Given the description of an element on the screen output the (x, y) to click on. 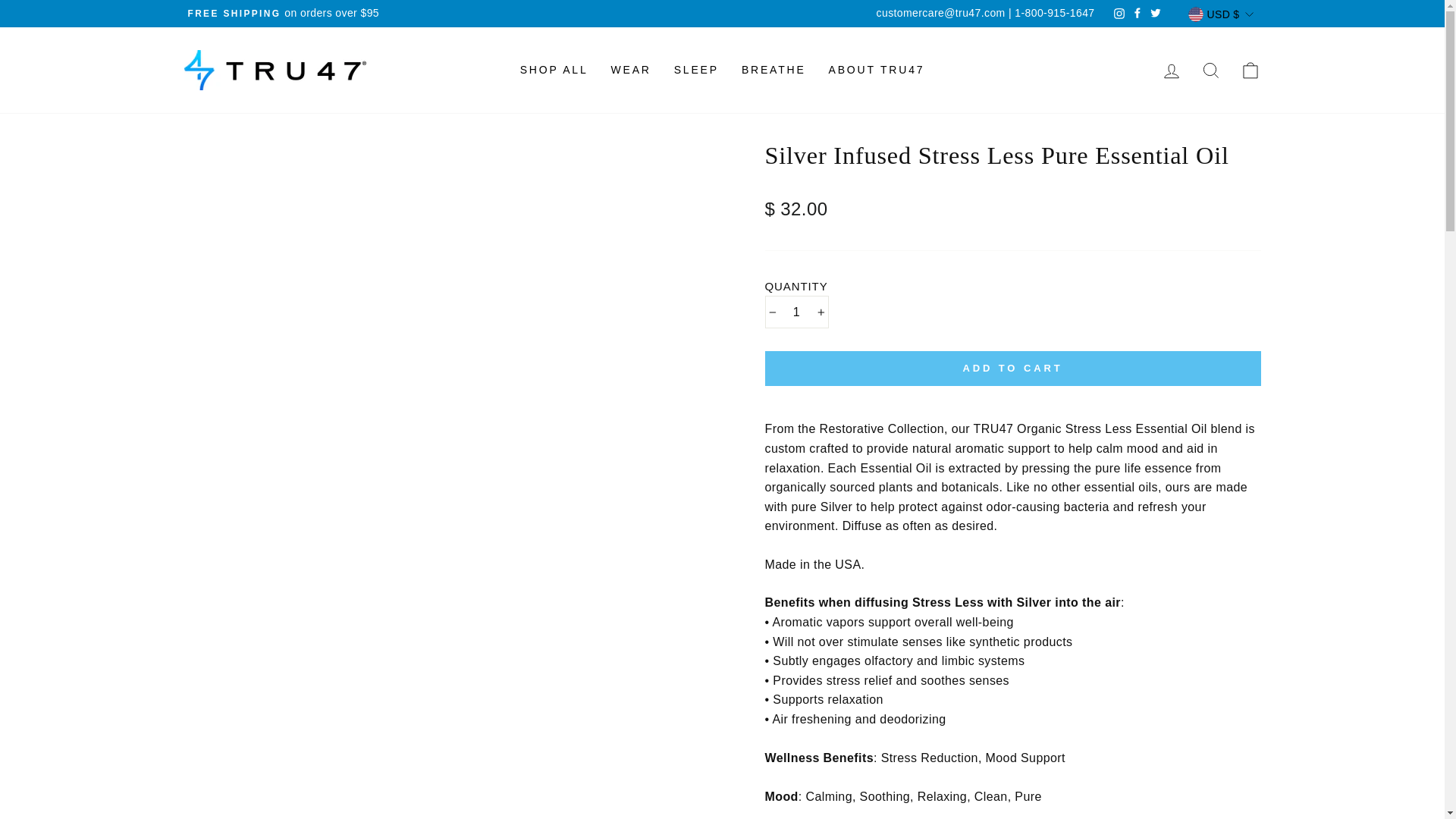
1 (796, 311)
